Given the description of an element on the screen output the (x, y) to click on. 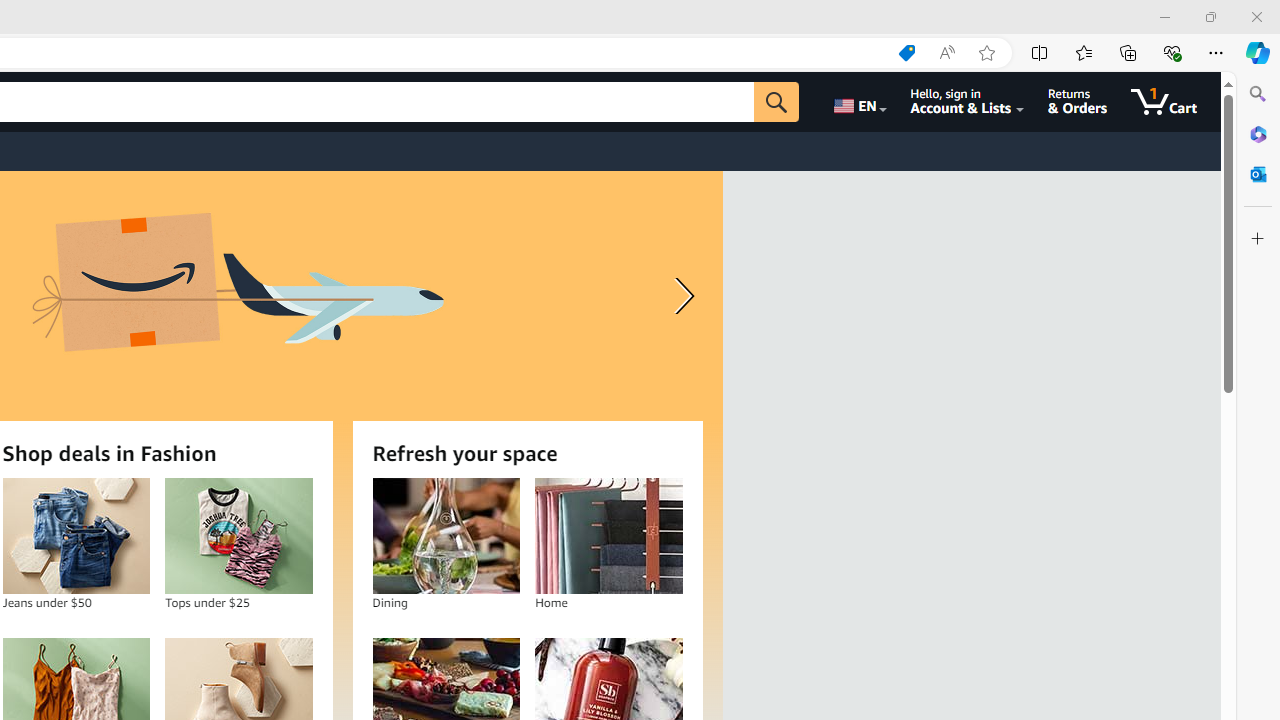
Add this page to favorites (Ctrl+D) (986, 53)
Favorites (1083, 52)
Split screen (1039, 52)
Close (Escape) (1115, 107)
Settings and more (Alt+F) (1215, 52)
Jeans under $50 (75, 536)
Dining (445, 536)
Go (776, 101)
Restore (1210, 16)
Customize (1258, 239)
Use Regular Expression (Alt+R) (943, 107)
Minimize (1164, 16)
Split Editor Right (Ctrl+\) [Alt] Split Editor Down (1230, 52)
Run Python File (1192, 52)
